Given the description of an element on the screen output the (x, y) to click on. 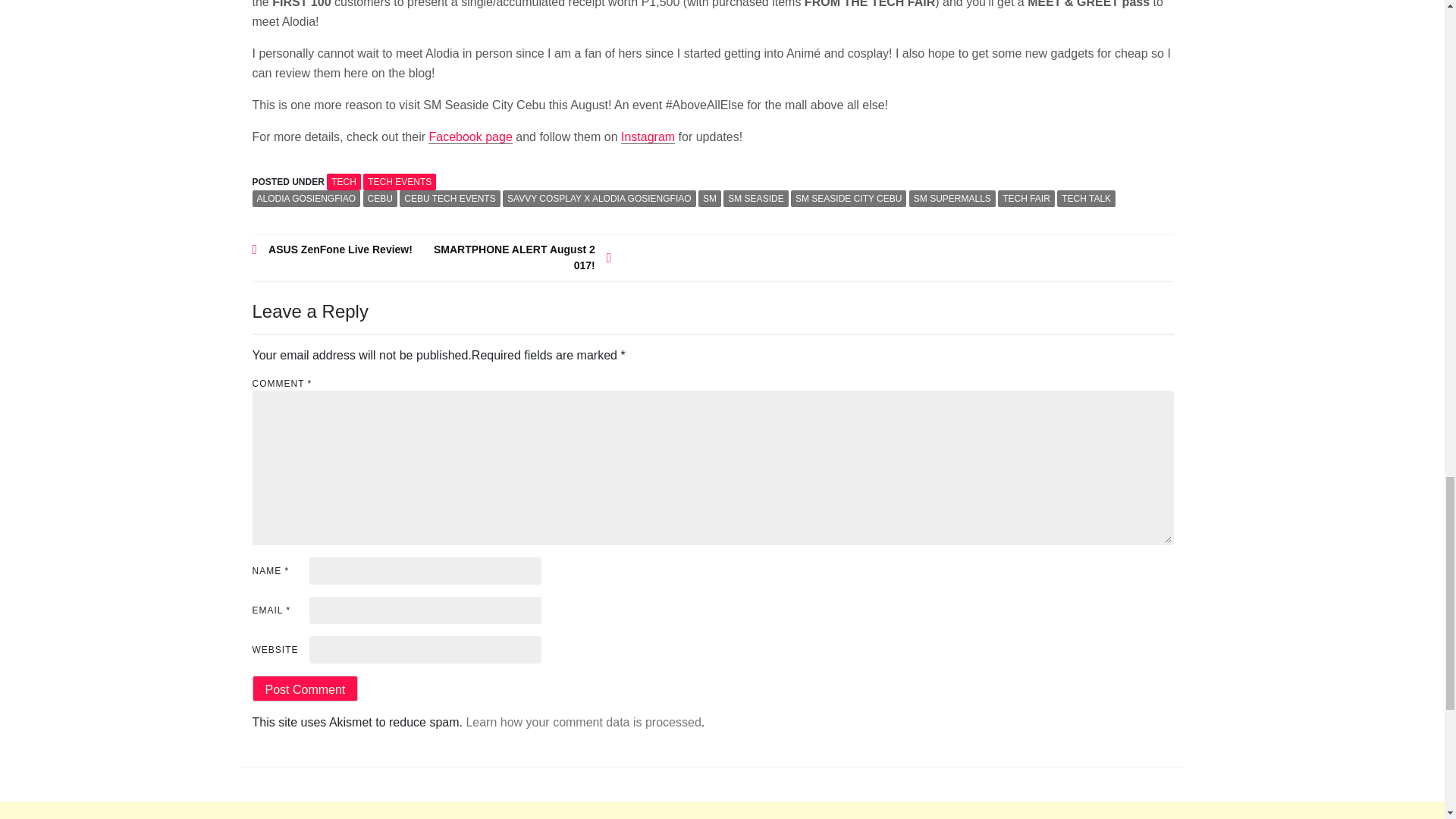
Post Comment (304, 688)
SM SUPERMALLS (951, 198)
TECH (343, 181)
TECH TALK (1086, 198)
SM SEASIDE CITY CEBU (847, 198)
SAVVY COSPLAY X ALODIA GOSIENGFIAO (598, 198)
TECH FAIR (1025, 198)
CEBU (379, 198)
Facebook page (470, 137)
SM (709, 198)
ALODIA GOSIENGFIAO (305, 198)
Post Comment (304, 688)
TECH EVENTS (398, 181)
Learn how your comment data is processed (582, 721)
SMARTPHONE ALERT August 2017! (520, 257)
